Given the description of an element on the screen output the (x, y) to click on. 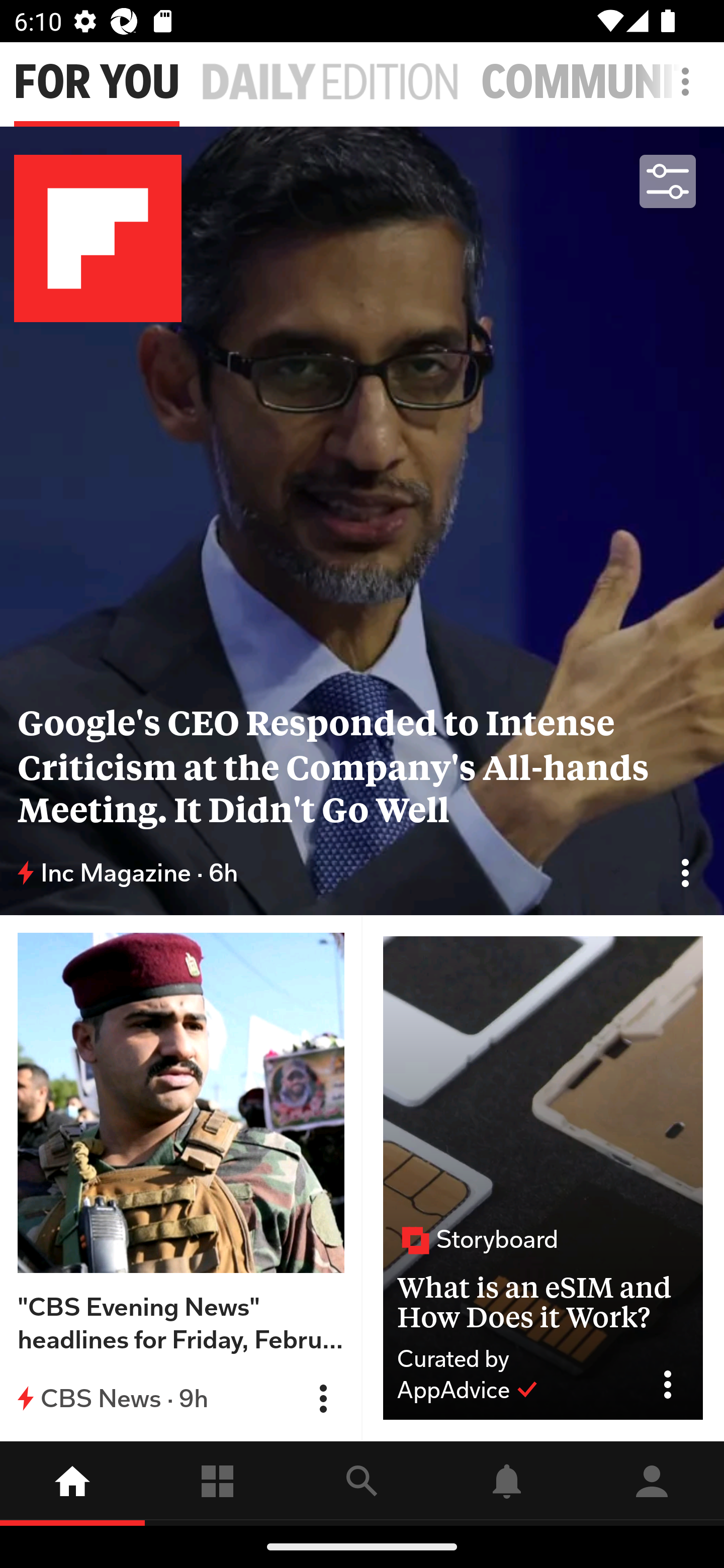
FOR YOU (96, 82)
COMMUNITY (602, 82)
Edit Home (679, 81)
Inc Magazine · 6h Flip into Magazine (362, 873)
Flip into Magazine (685, 872)
Curated by (514, 1359)
Share (674, 1385)
CBS News · 9h Flip into Magazine (181, 1398)
Flip into Magazine (323, 1398)
AppAdvice (467, 1389)
home (72, 1482)
Following (216, 1482)
explore (361, 1482)
Notifications (506, 1482)
Profile (651, 1482)
